Given the description of an element on the screen output the (x, y) to click on. 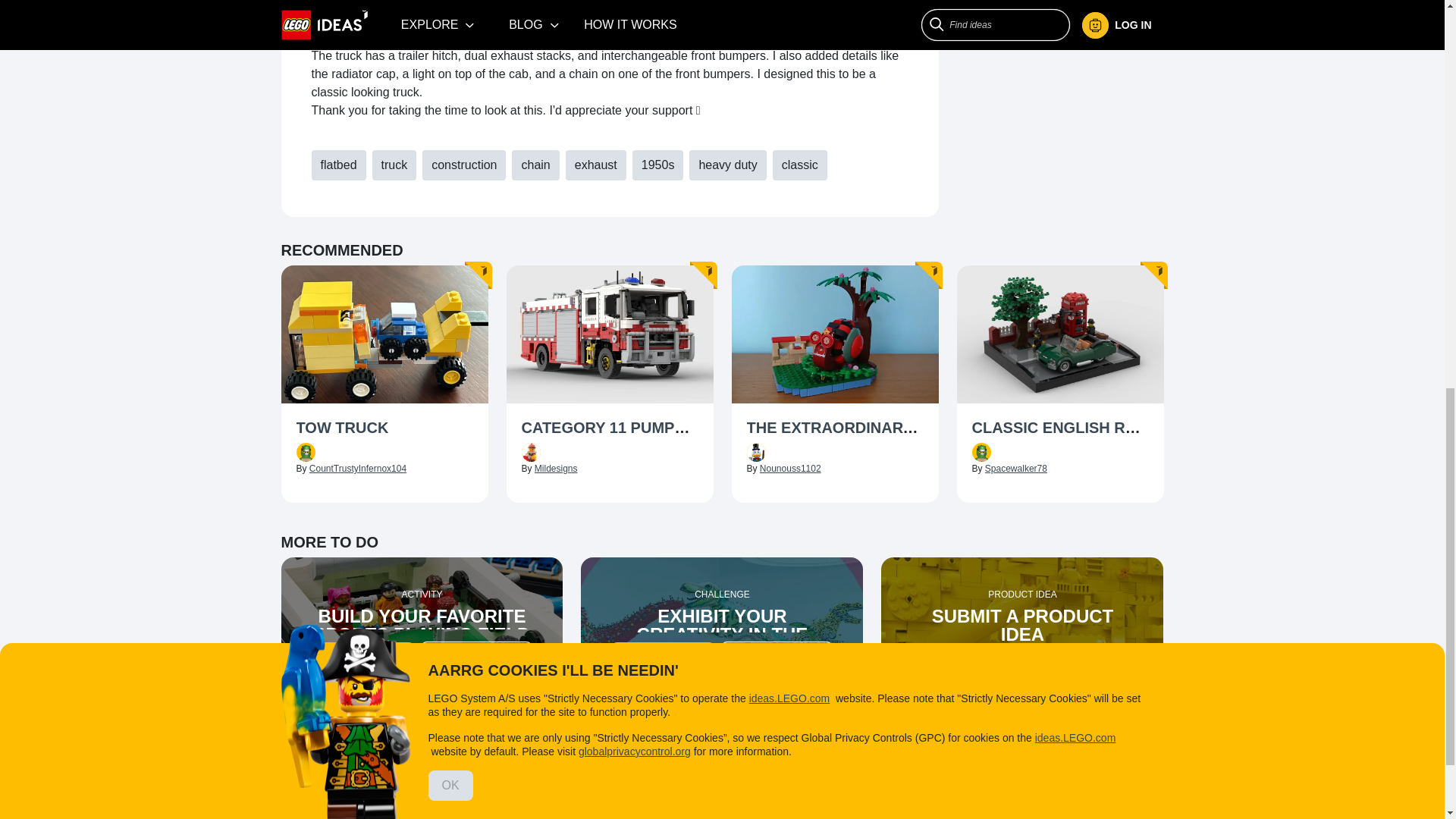
Tow Truck (383, 428)
Category 11 Pumper NSW RFS Fire Truck (609, 428)
